Given the description of an element on the screen output the (x, y) to click on. 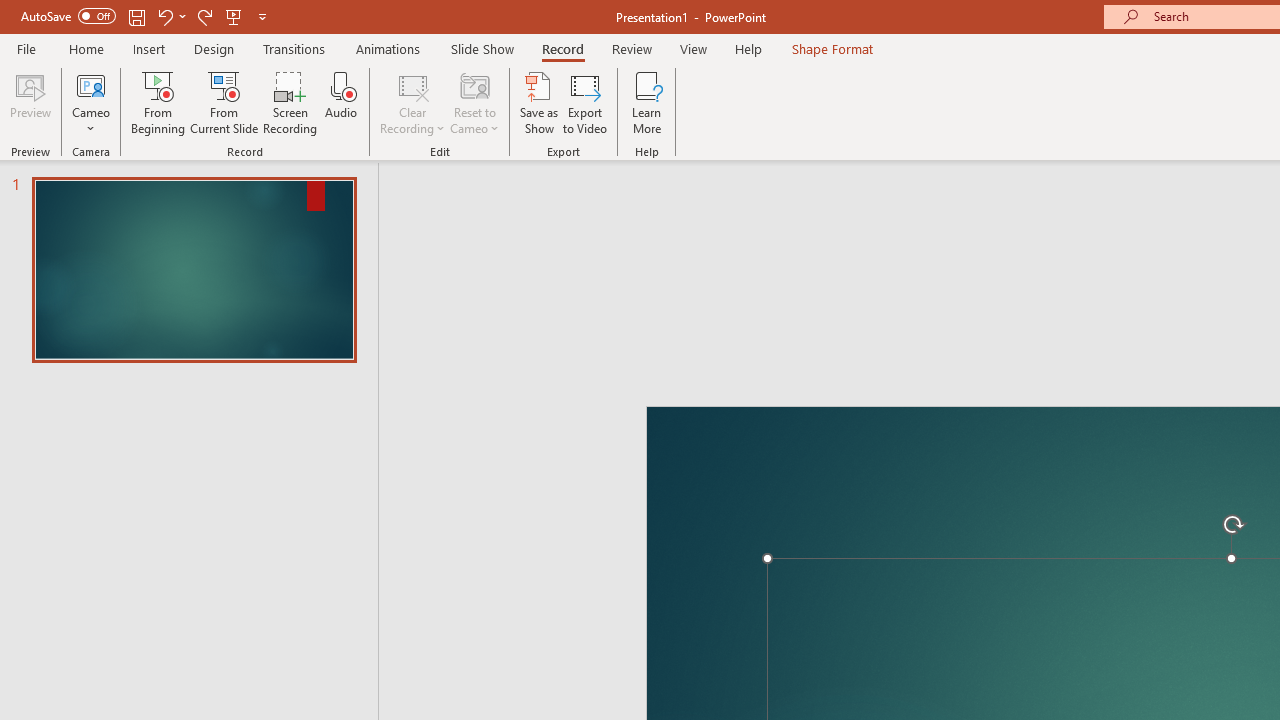
Audio (341, 102)
Shape Format (832, 48)
Clear Recording (412, 102)
From Beginning... (158, 102)
Learn More (646, 102)
From Current Slide... (224, 102)
